Given the description of an element on the screen output the (x, y) to click on. 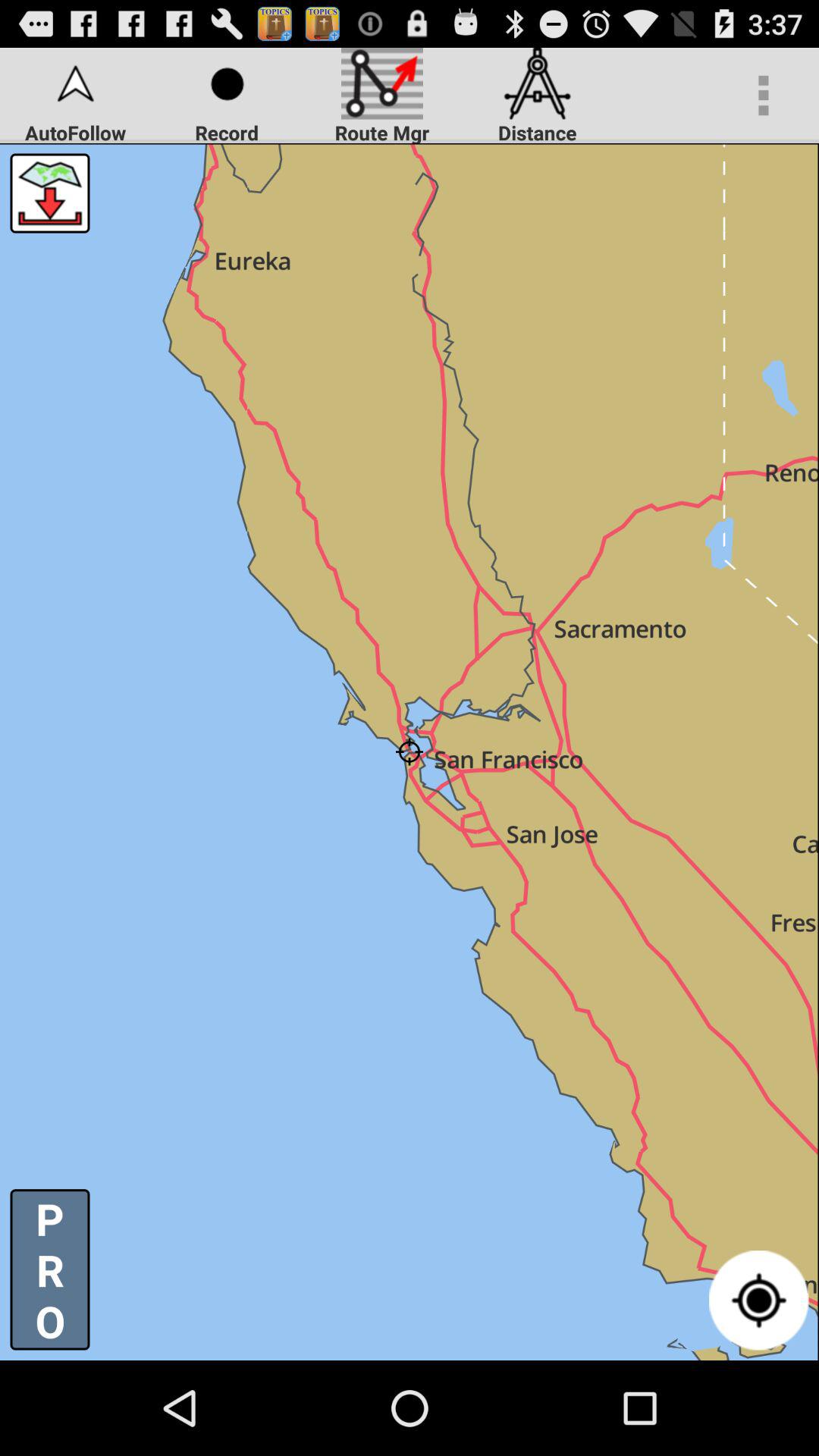
press the p
r
o item (49, 1269)
